Given the description of an element on the screen output the (x, y) to click on. 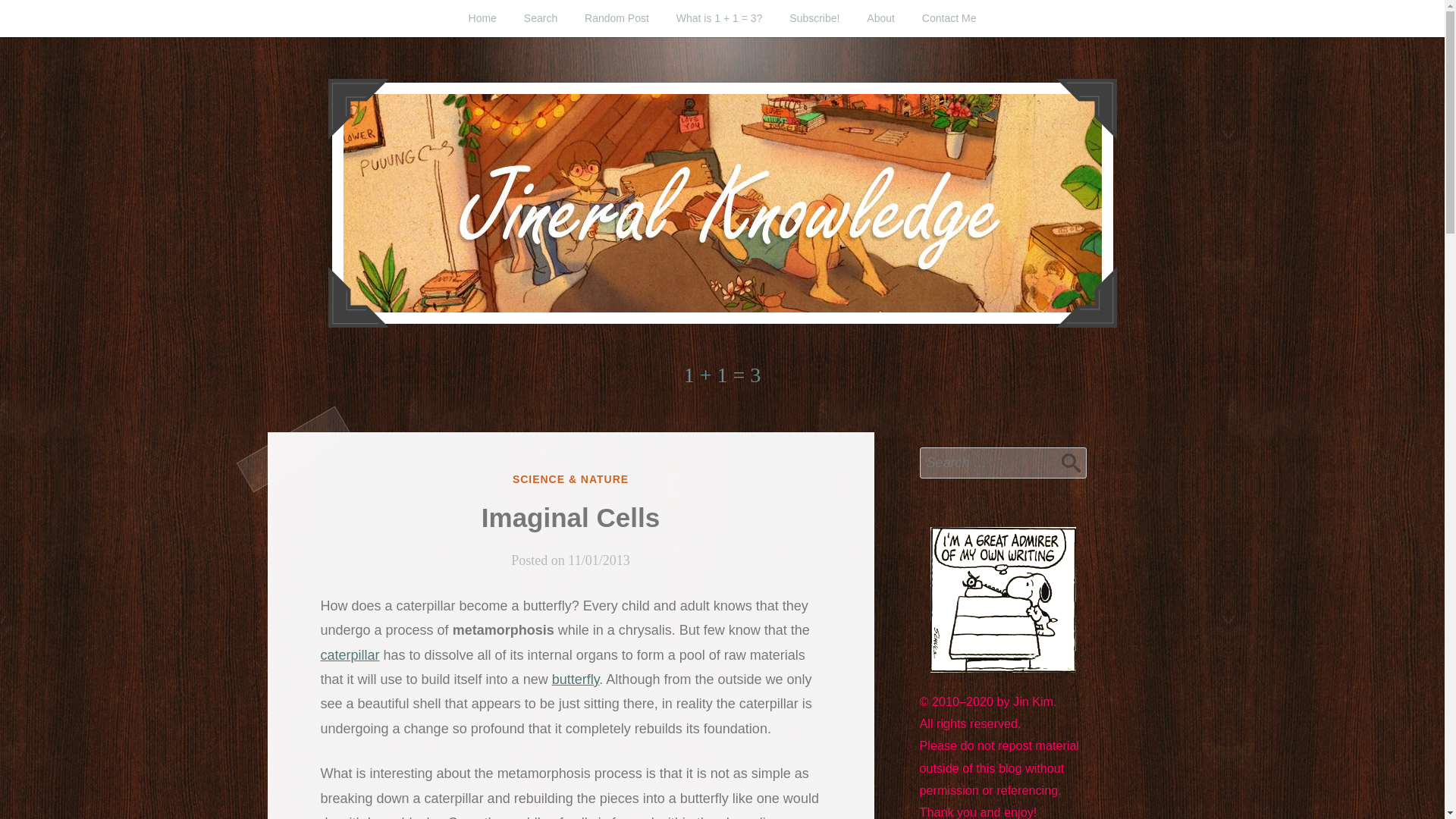
Contact Me (949, 18)
Search (540, 18)
About (880, 18)
caterpillar (349, 654)
Home (482, 18)
Search (1070, 462)
butterfly (575, 679)
Search (1070, 462)
Subscribe! (814, 18)
Random Post (616, 18)
